Given the description of an element on the screen output the (x, y) to click on. 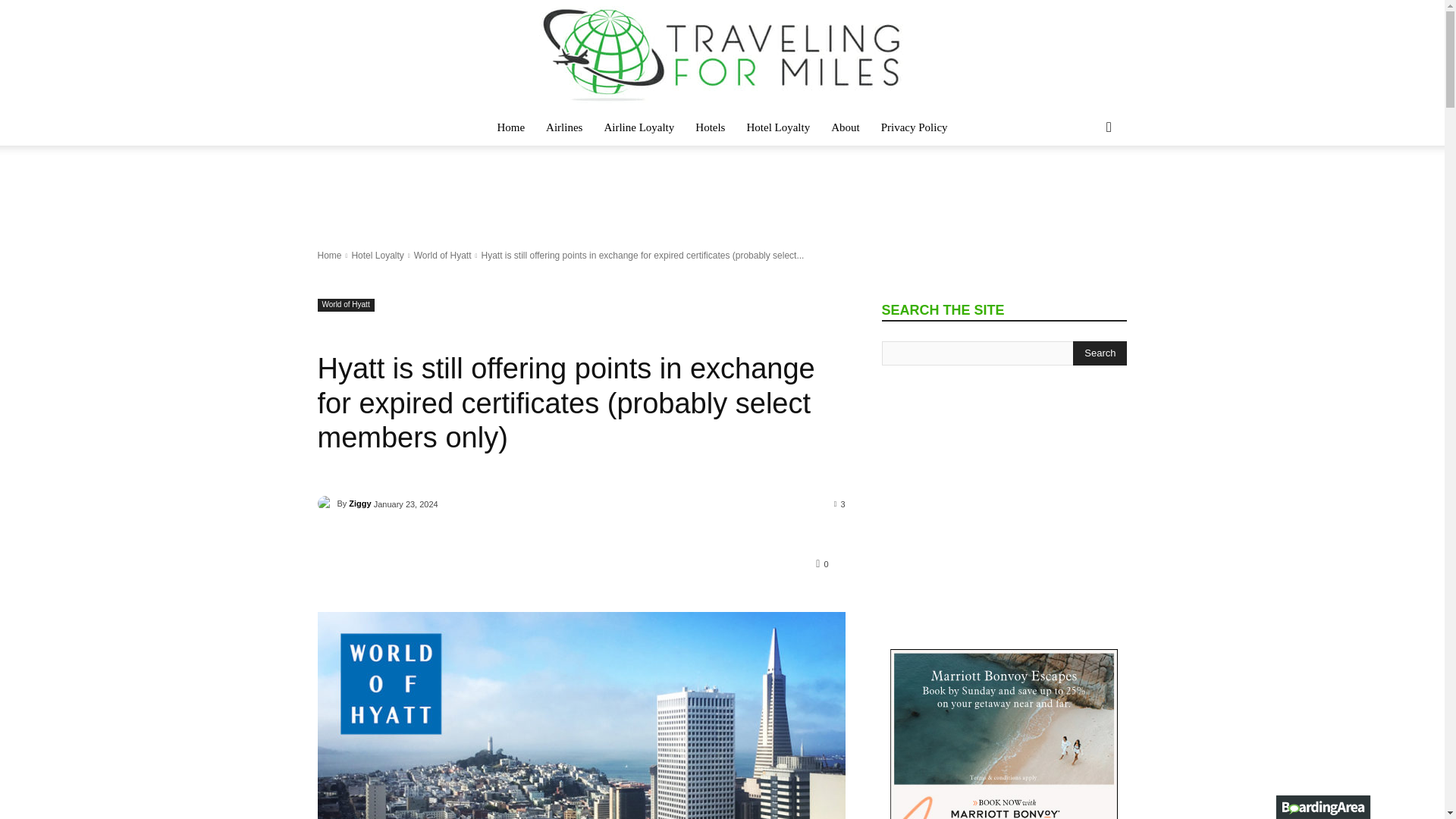
world-of-hyatt-741 (580, 715)
About (845, 126)
Ziggy (326, 503)
Search (1085, 187)
Airline Loyalty (638, 126)
Hotels (709, 126)
View all posts in World of Hyatt (442, 255)
View all posts in Hotel Loyalty (376, 255)
Privacy Policy (914, 126)
Search (1099, 353)
Home (328, 255)
Hotel Loyalty (778, 126)
Home (510, 126)
Airlines (563, 126)
3 (839, 502)
